Given the description of an element on the screen output the (x, y) to click on. 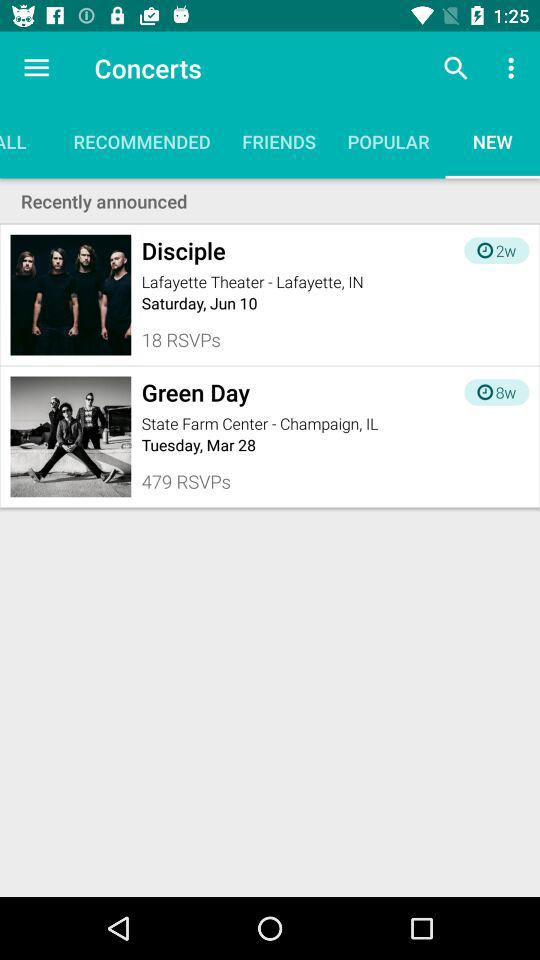
launch item above popular (455, 67)
